Given the description of an element on the screen output the (x, y) to click on. 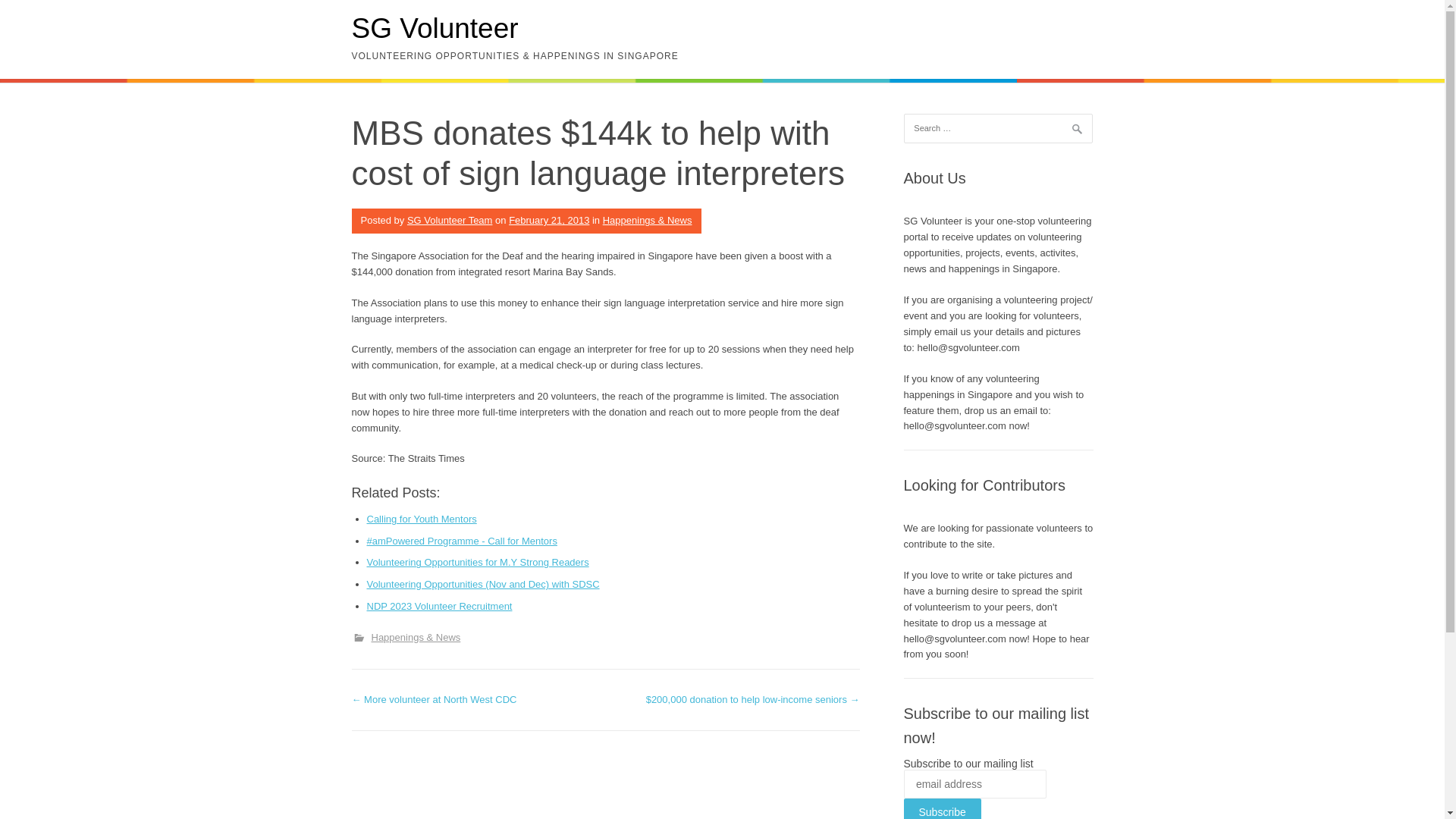
February 21, 2013 (548, 220)
Calling for Youth Mentors (421, 518)
SG Volunteer (435, 28)
Subscribe (942, 808)
Search (30, 15)
Subscribe (942, 808)
NDP 2023 Volunteer Recruitment (439, 605)
Volunteering Opportunities for M.Y Strong Readers (477, 562)
SG Volunteer Team (450, 220)
